Given the description of an element on the screen output the (x, y) to click on. 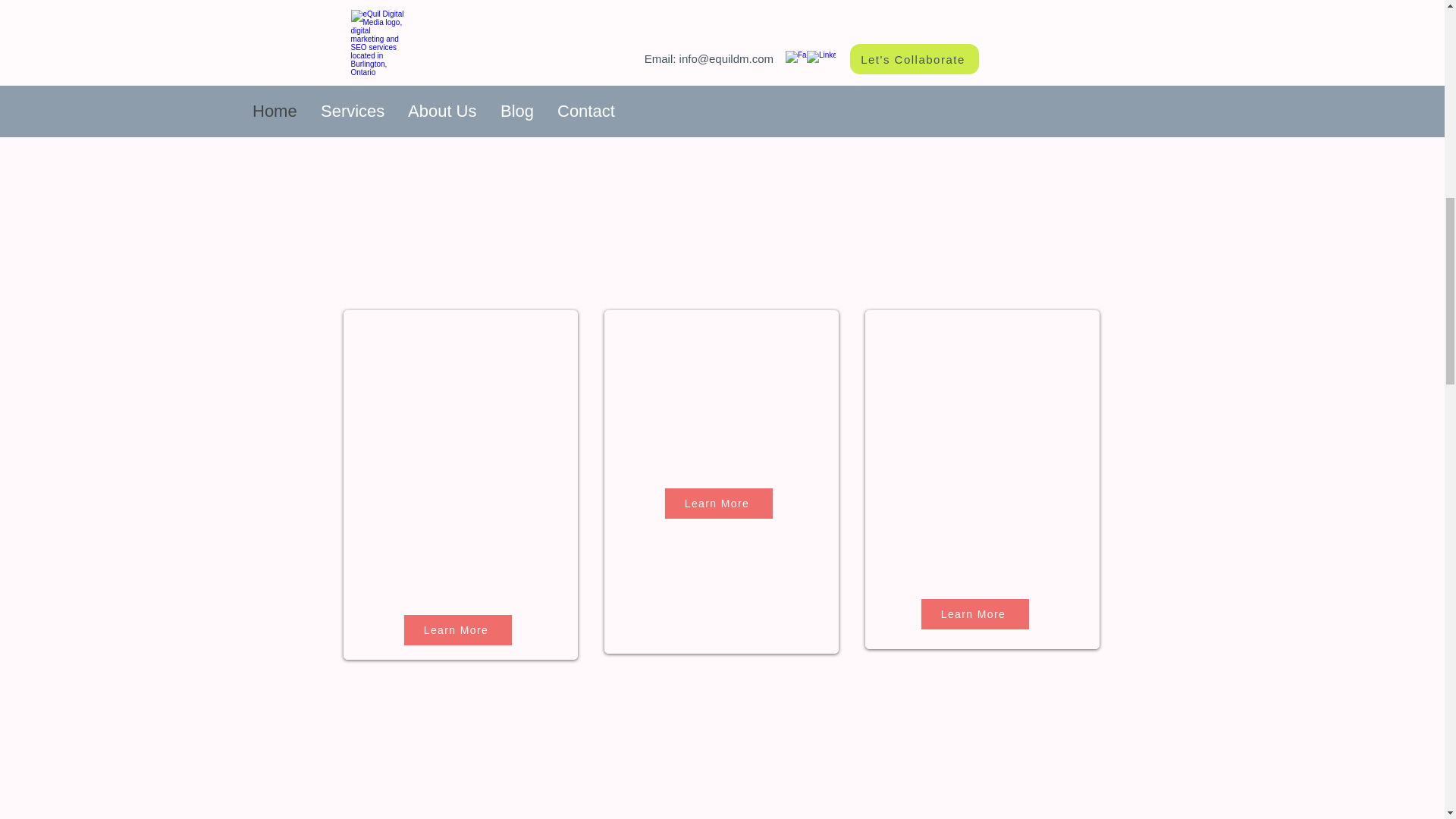
Learn More (973, 613)
Learn More (717, 503)
Learn More (457, 630)
